Given the description of an element on the screen output the (x, y) to click on. 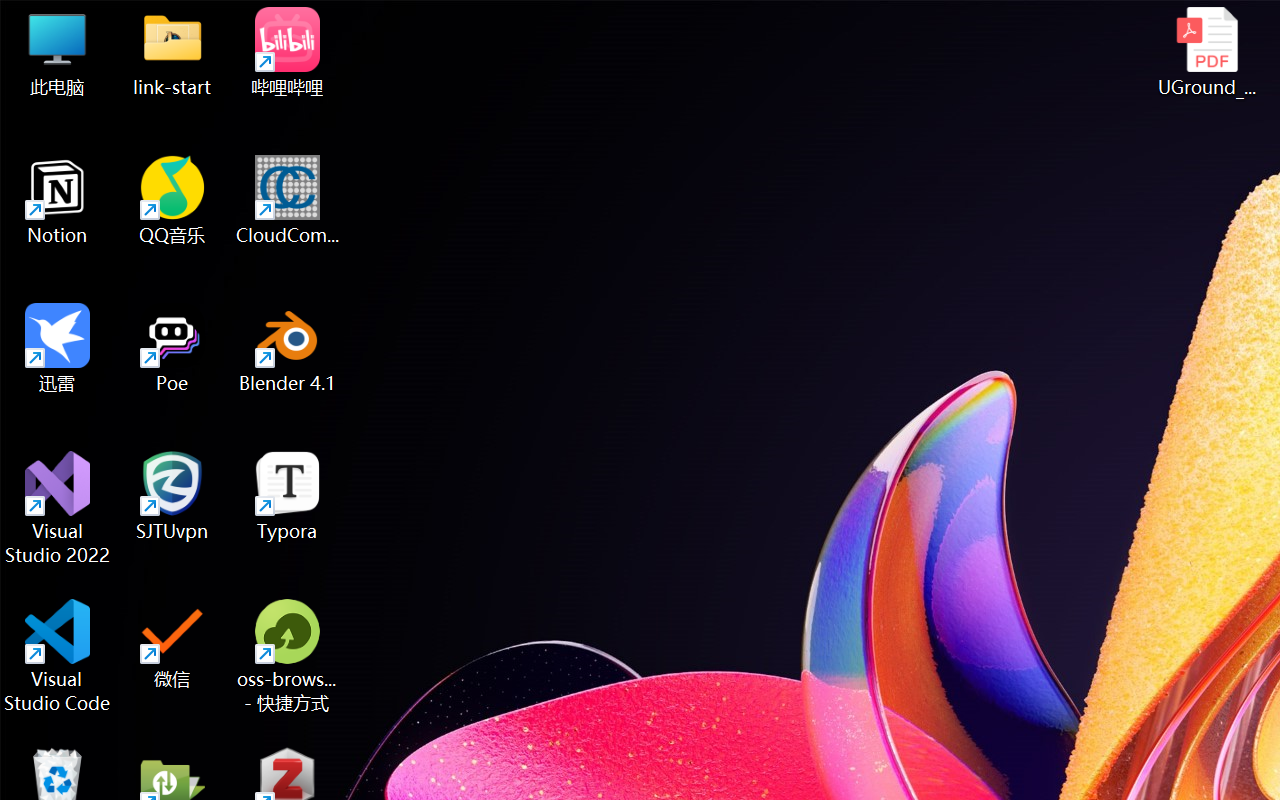
UGround_paper.pdf (1206, 52)
Typora (287, 496)
Visual Studio 2022 (57, 508)
Visual Studio Code (57, 656)
CloudCompare (287, 200)
Blender 4.1 (287, 348)
